Given the description of an element on the screen output the (x, y) to click on. 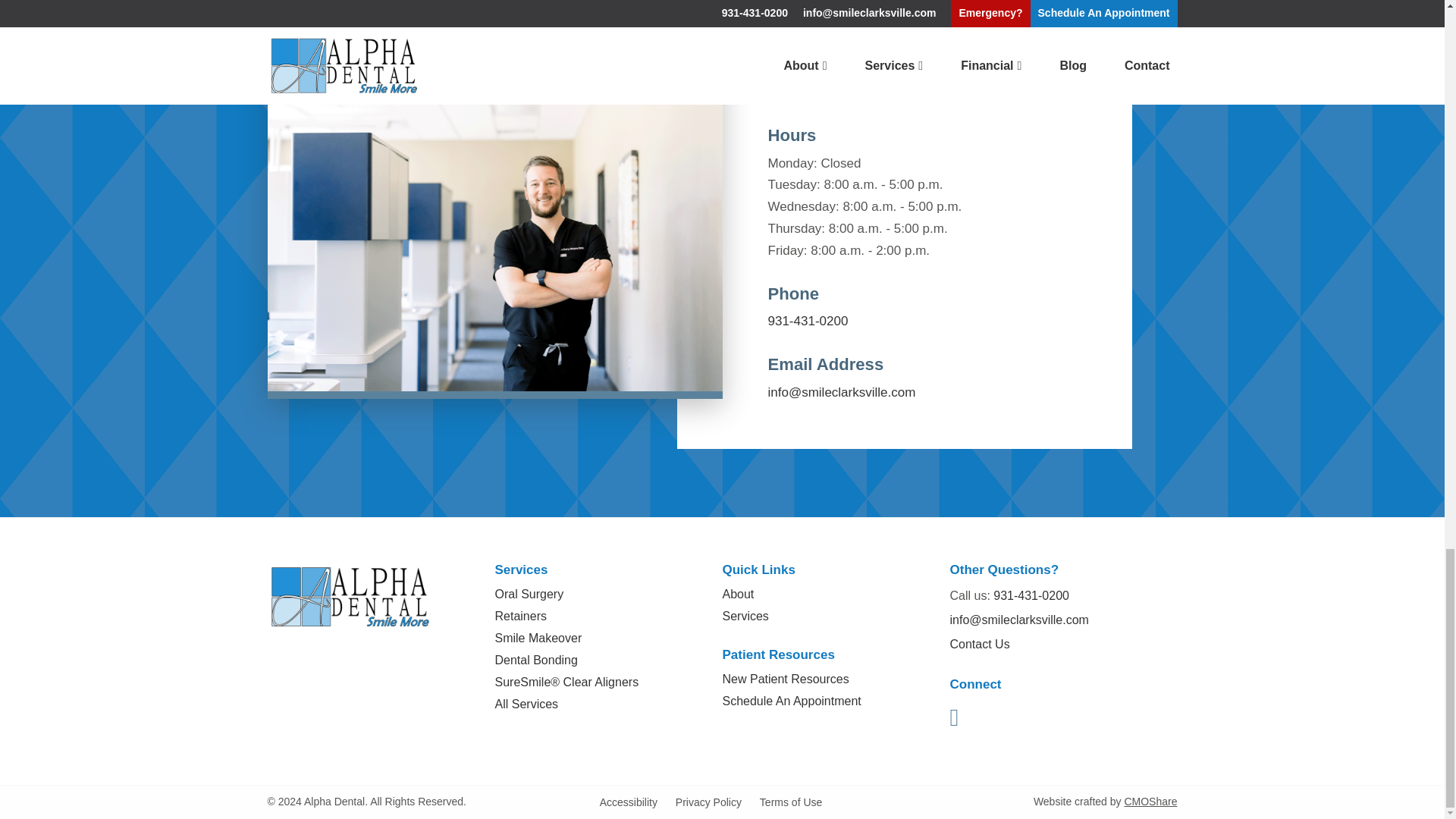
Schedule An Appointment (494, 16)
